Given the description of an element on the screen output the (x, y) to click on. 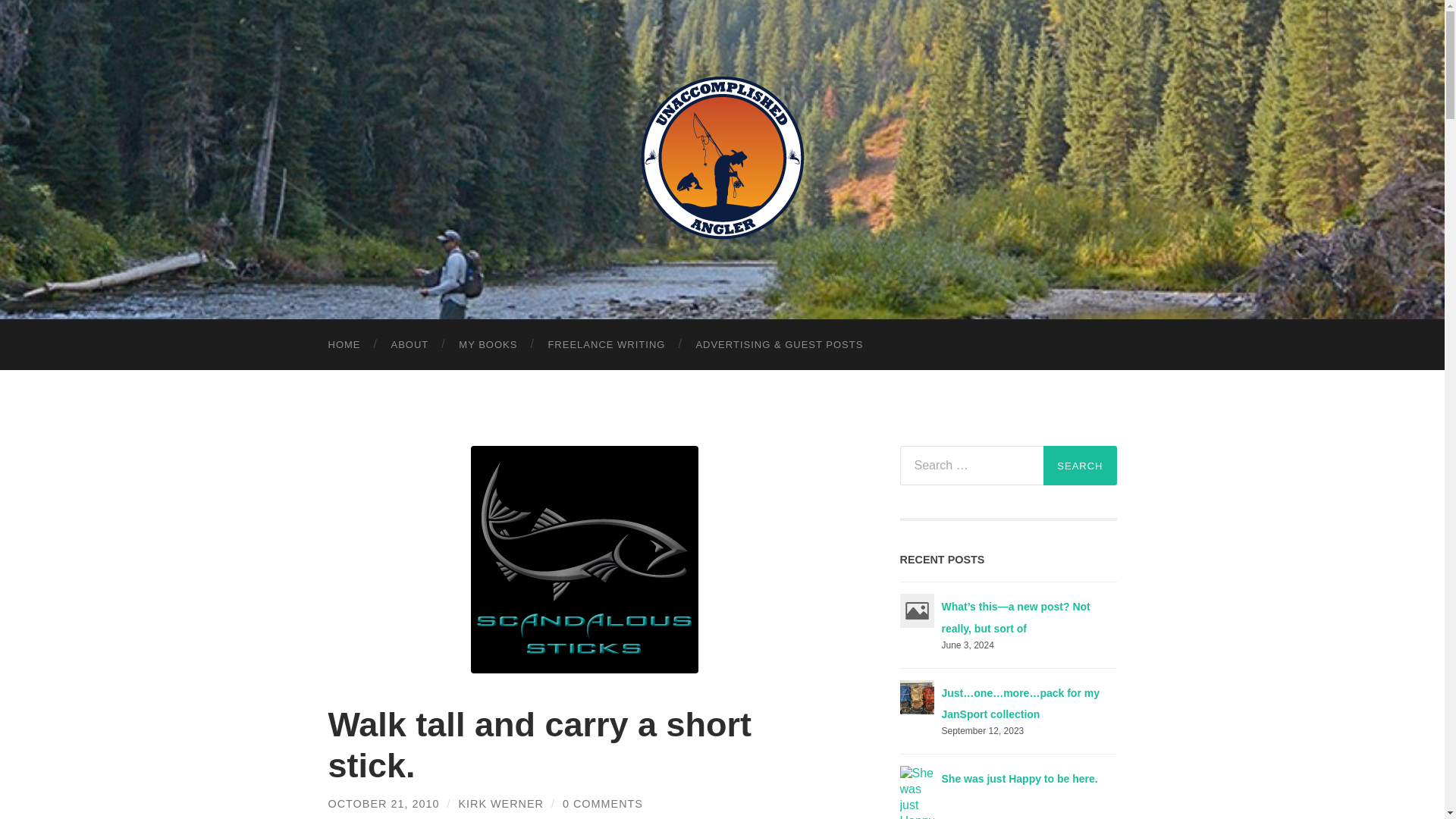
MY BOOKS (488, 344)
ABOUT (409, 344)
OCTOBER 21, 2010 (383, 803)
Search (1079, 465)
Search (1079, 465)
0 COMMENTS (602, 803)
KIRK WERNER (500, 803)
HOME (344, 344)
Posts by Kirk Werner (500, 803)
Unaccomplished Angler (721, 157)
Permalink to She was just Happy to be here. (1019, 778)
FREELANCE WRITING (605, 344)
